Given the description of an element on the screen output the (x, y) to click on. 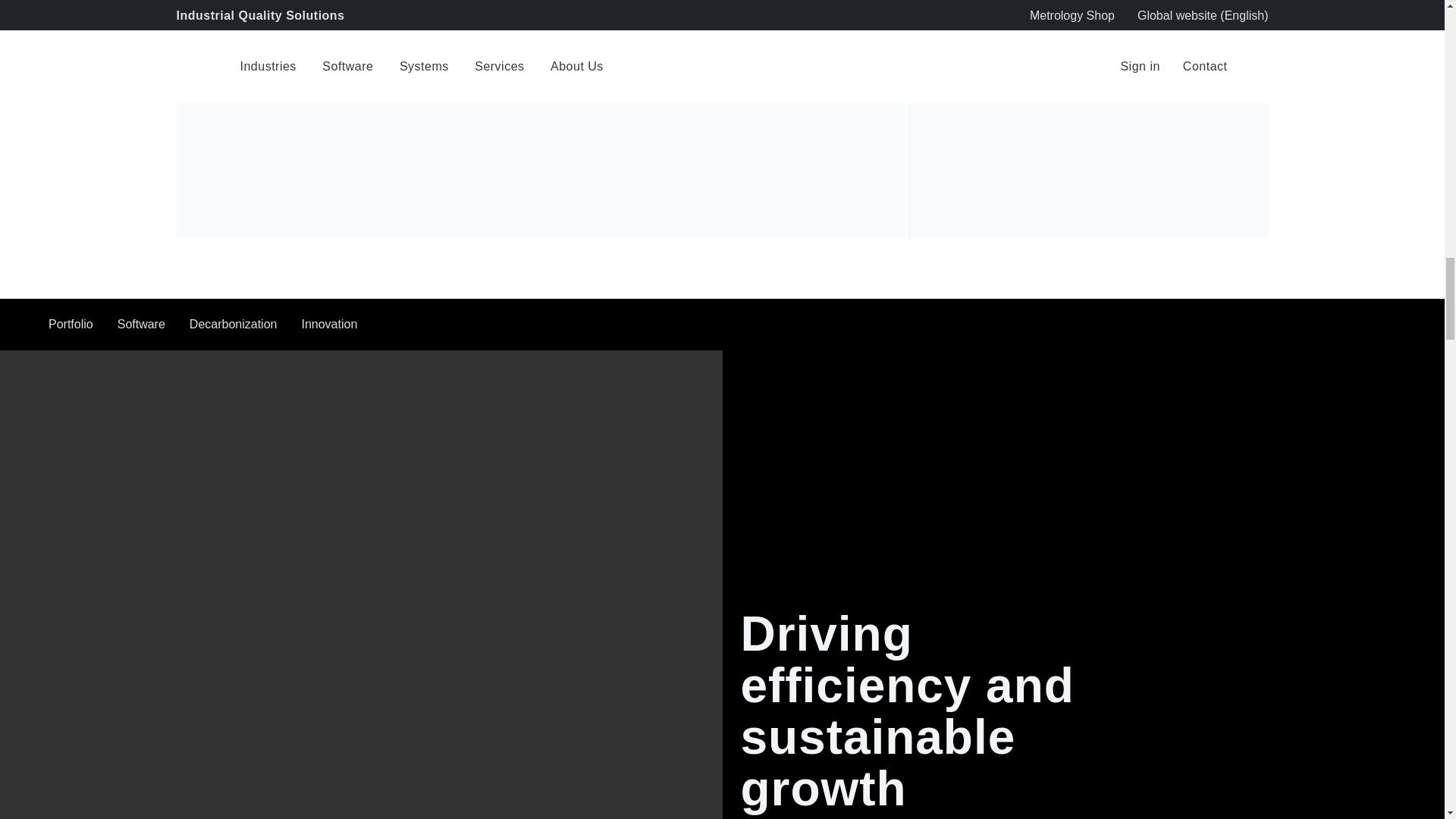
Portfolio (70, 324)
Decarbonization (233, 324)
Innovation (328, 324)
Software (141, 324)
